Given the description of an element on the screen output the (x, y) to click on. 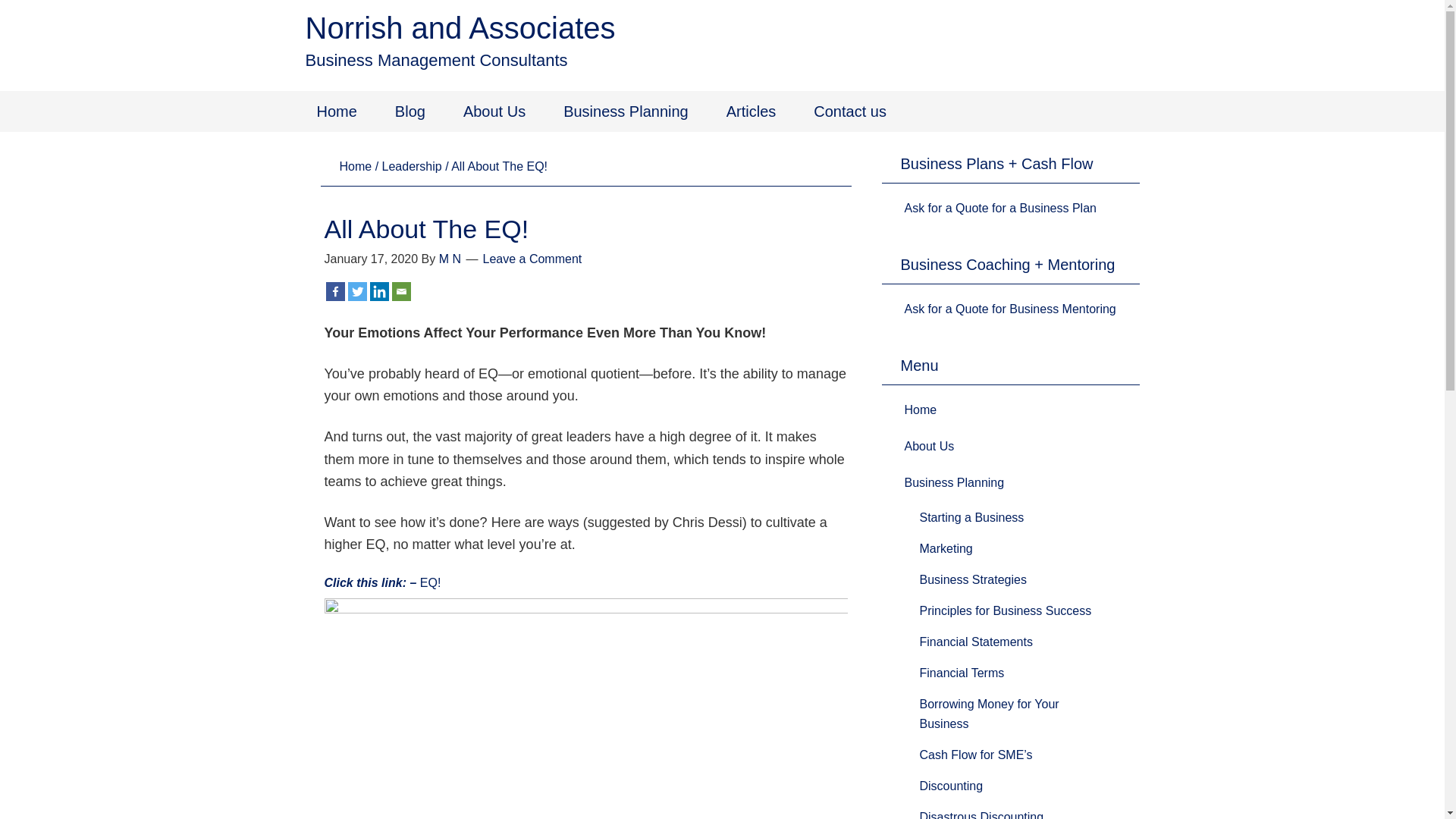
Twitter Element type: hover (356, 291)
Blog Element type: text (409, 111)
Home Element type: text (355, 166)
Financial Statements Element type: text (975, 641)
Skip to primary navigation Element type: text (0, 0)
About Us Element type: text (493, 111)
Facebook Element type: hover (335, 291)
Ask for a Quote for a Business Plan Element type: text (999, 207)
Leave a Comment Element type: text (531, 257)
M N Element type: text (450, 257)
EQ! Element type: text (430, 582)
Norrish and Associates Element type: text (459, 27)
Articles Element type: text (751, 111)
Starting a Business Element type: text (971, 517)
About Us Element type: text (928, 445)
Marketing Element type: text (945, 548)
Ask for a Quote for Business Mentoring Element type: text (1009, 308)
Business Strategies Element type: text (972, 579)
Home Element type: text (335, 111)
Business Planning Element type: text (953, 482)
Email Element type: hover (400, 291)
Linkedin Element type: hover (379, 291)
Principles for Business Success Element type: text (1005, 610)
Leadership Element type: text (412, 166)
Home Element type: text (919, 409)
Contact us Element type: text (849, 111)
Discounting Element type: text (950, 785)
Business Planning Element type: text (625, 111)
Borrowing Money for Your Business Element type: text (988, 713)
Financial Terms Element type: text (961, 672)
